Given the description of an element on the screen output the (x, y) to click on. 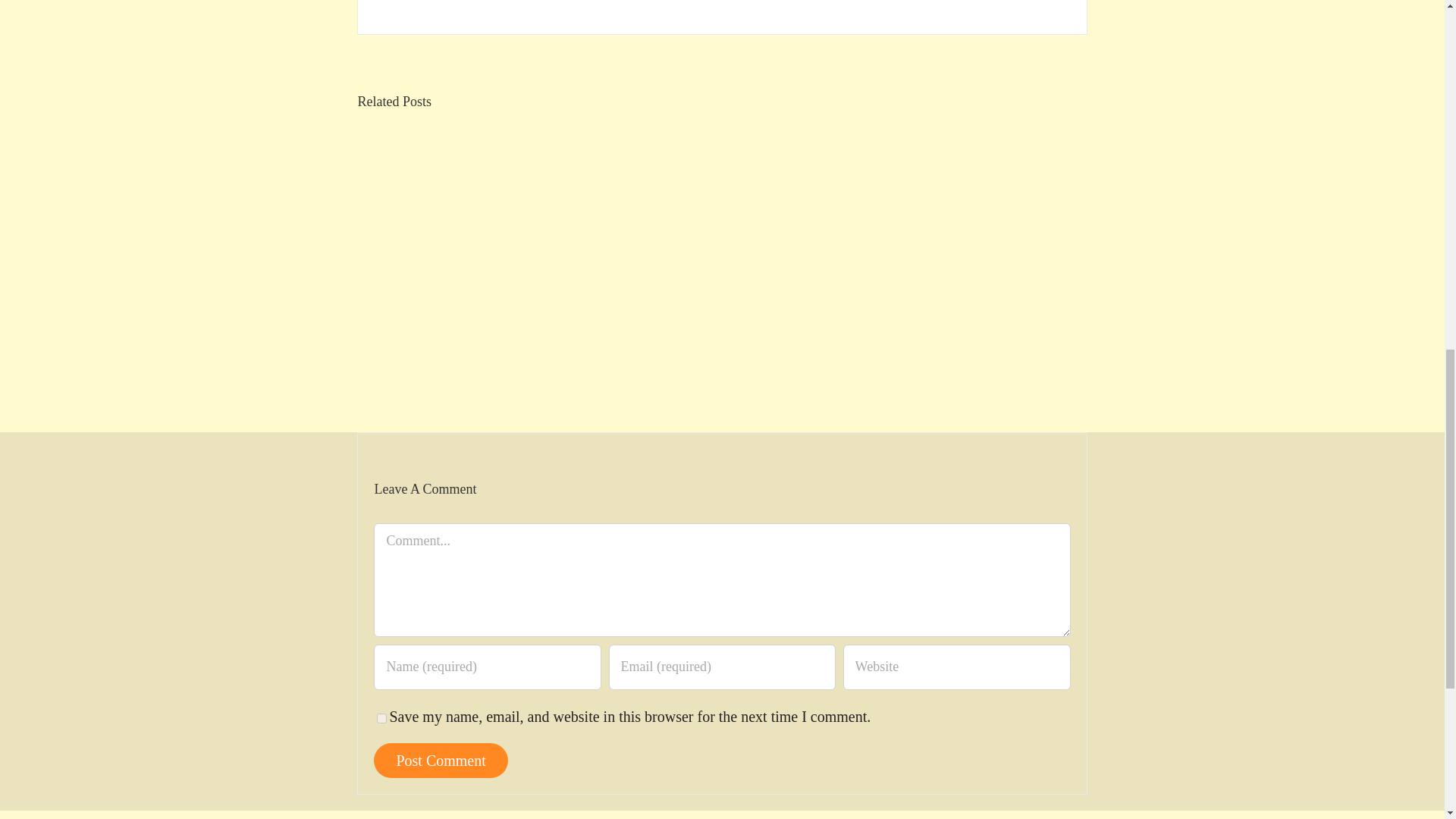
Post Comment (440, 760)
Post Comment (440, 760)
yes (382, 717)
